Given the description of an element on the screen output the (x, y) to click on. 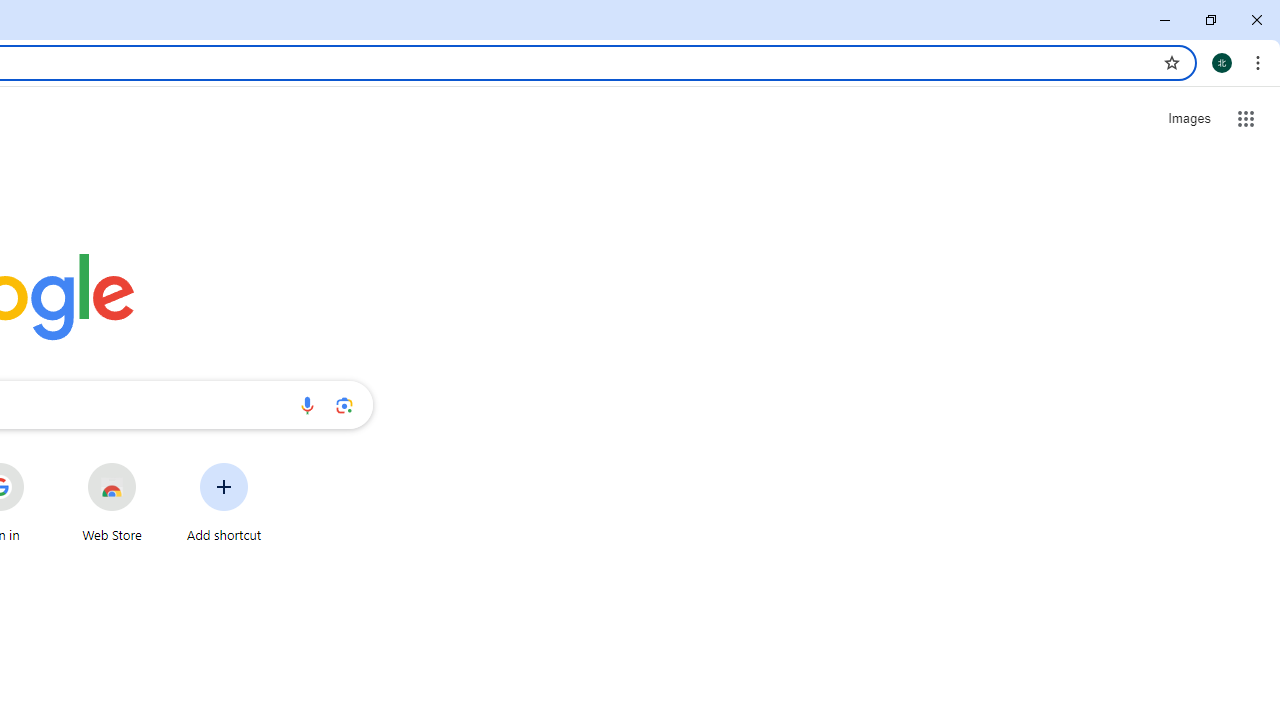
More actions for Web Store shortcut (152, 464)
More actions for Sign in shortcut (39, 464)
Web Store (111, 502)
